Given the description of an element on the screen output the (x, y) to click on. 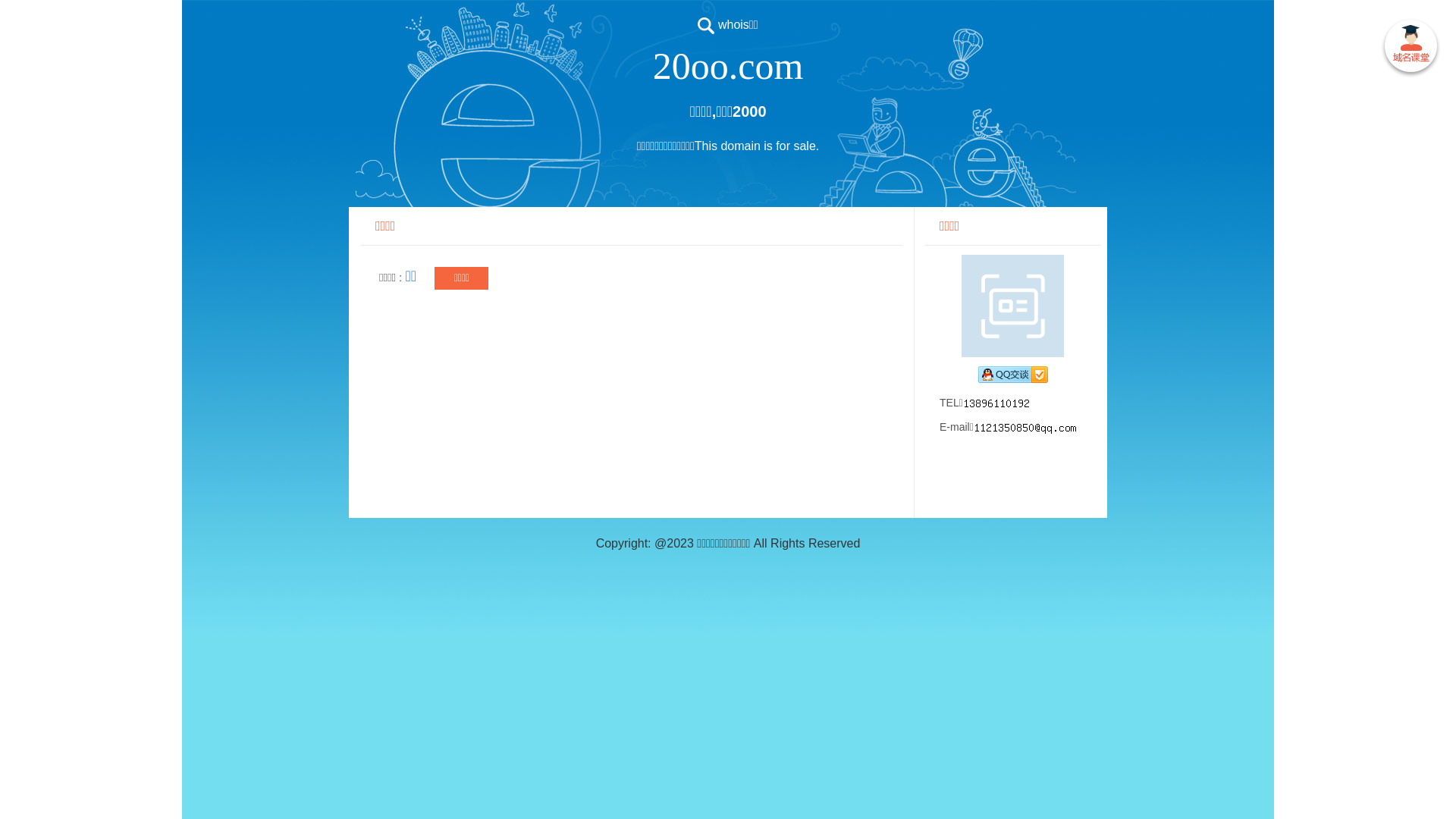
  Element type: text (1410, 48)
